Given the description of an element on the screen output the (x, y) to click on. 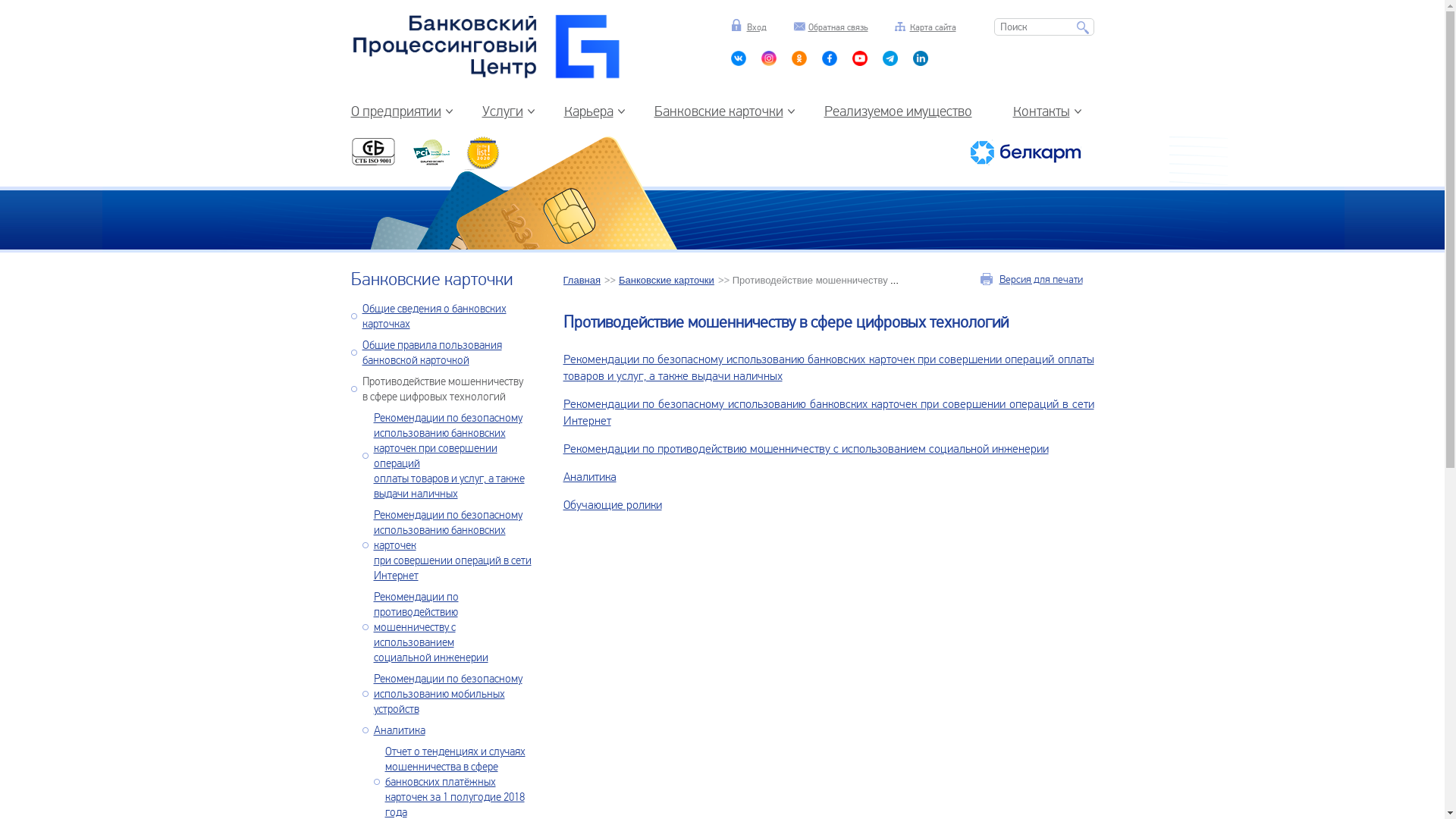
Facebook Element type: hover (829, 61)
Facebook Element type: hover (859, 61)
Facebook Element type: hover (920, 61)
Instagram Element type: hover (768, 61)
Facebook Element type: hover (889, 61)
